Given the description of an element on the screen output the (x, y) to click on. 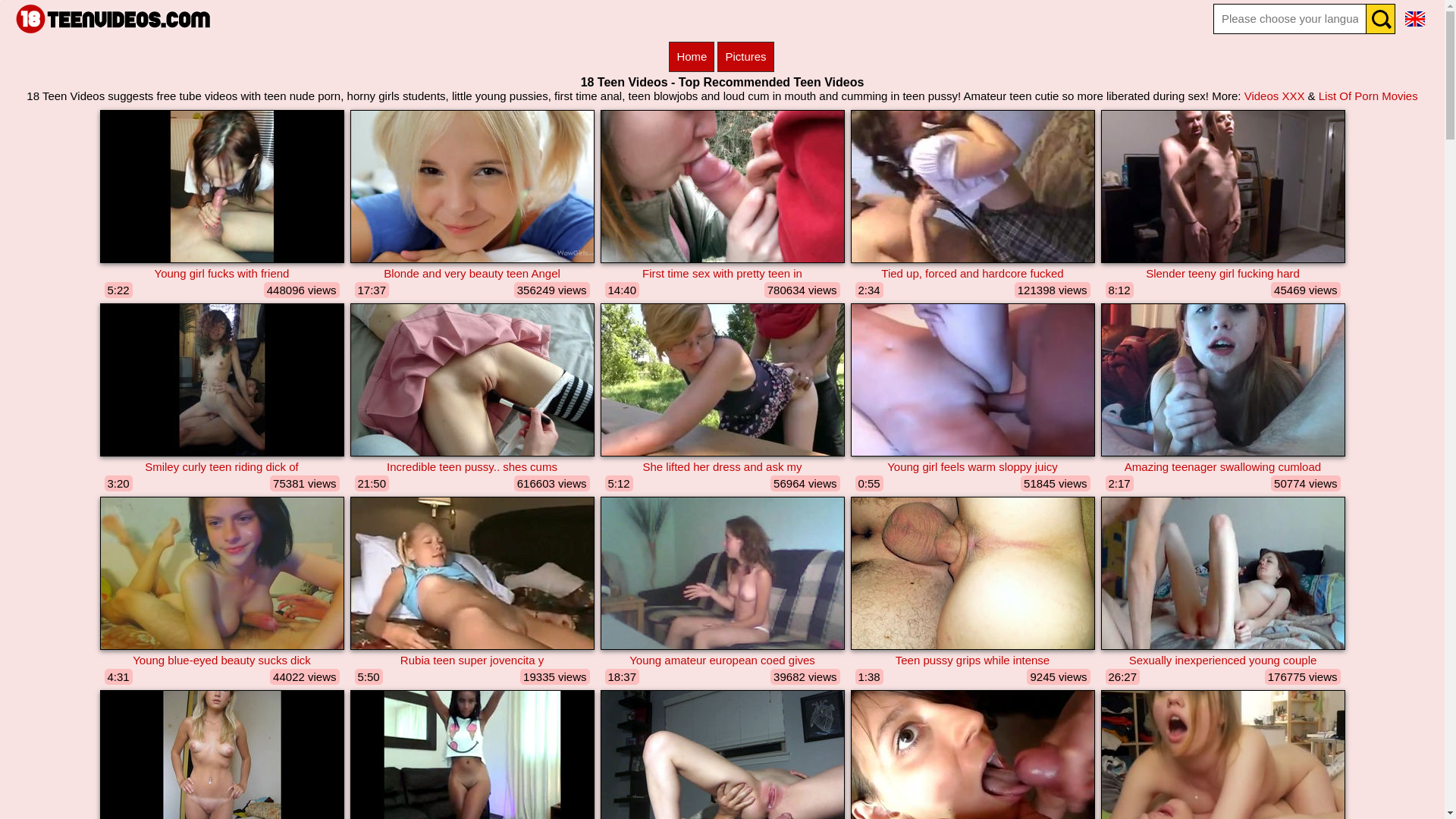
Blonde and very beauty teen Angel Element type: text (472, 272)
Tied up, forced and hardcore fucked Element type: text (972, 272)
Rubia teen super jovencita y Element type: text (472, 659)
Young amateur european coed gives Element type: text (722, 659)
Pictures Element type: text (745, 56)
Only letters, without symbols Element type: hover (1289, 18)
Smiley curly teen riding dick of Element type: text (222, 466)
Young blue-eyed beauty sucks dick Element type: text (222, 659)
Home Element type: text (691, 56)
Sexually inexperienced young couple Element type: text (1223, 659)
Incredible teen pussy.. shes cums Element type: text (472, 466)
Young girl fucks with friend Element type: text (222, 272)
Young girl feels warm sloppy juicy Element type: text (972, 466)
Slender teeny girl fucking hard Element type: text (1223, 272)
Teen pussy grips while intense Element type: text (972, 659)
Videos XXX Element type: text (1274, 95)
Amazing teenager swallowing cumload Element type: text (1223, 466)
List Of Porn Movies Element type: text (1368, 95)
She lifted her dress and ask my Element type: text (722, 466)
First time sex with pretty teen in Element type: text (722, 272)
